Given the description of an element on the screen output the (x, y) to click on. 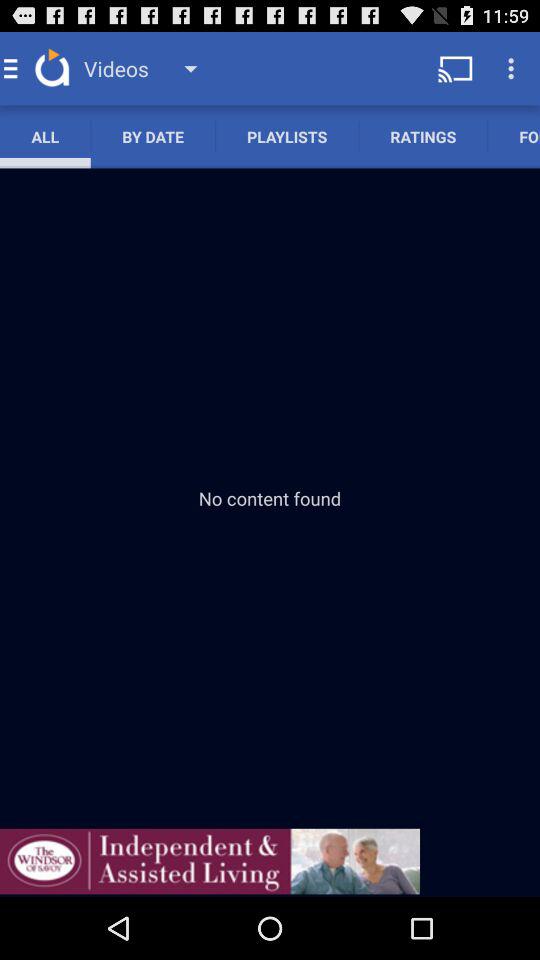
for adverisment (210, 861)
